Given the description of an element on the screen output the (x, y) to click on. 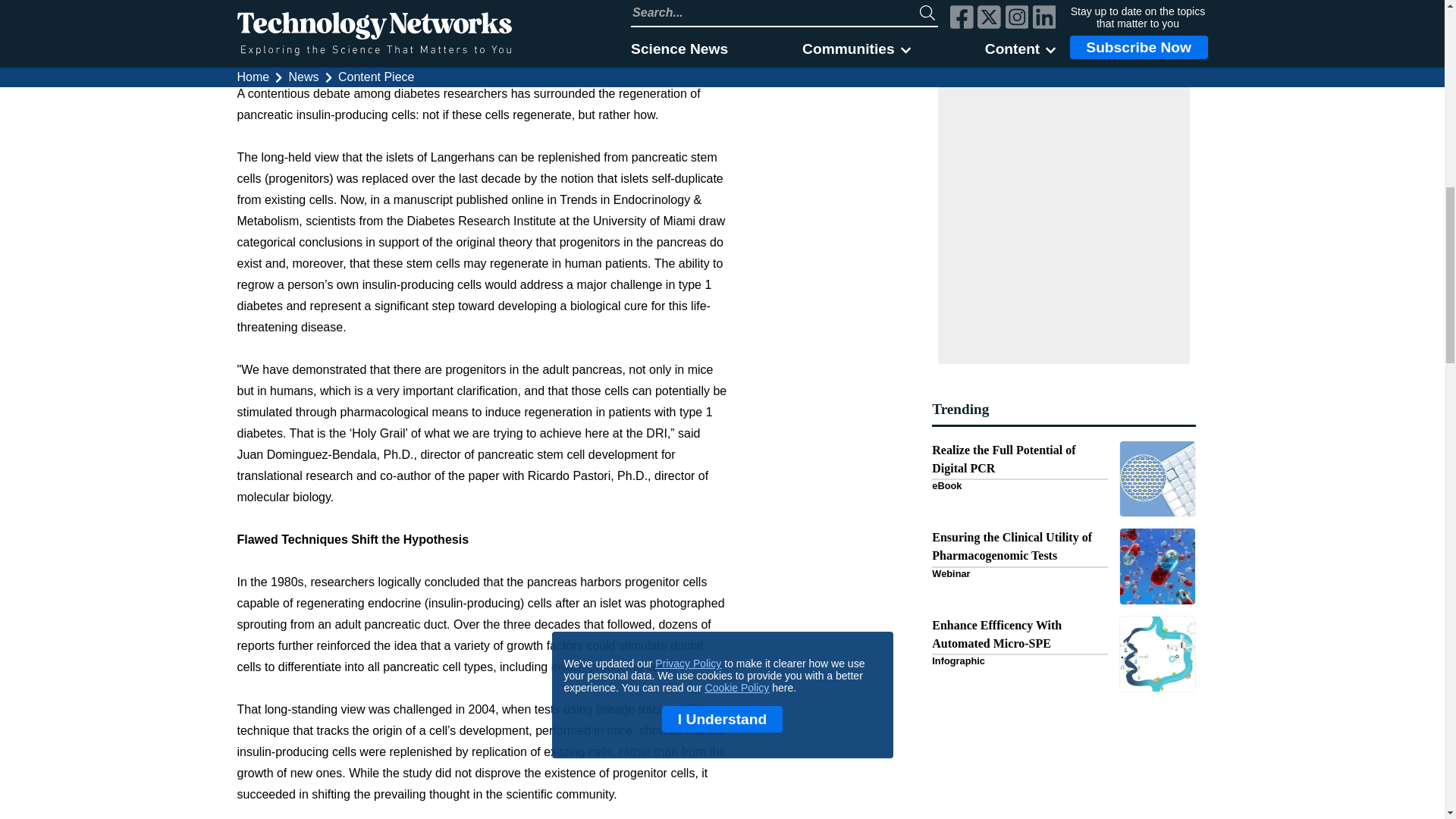
Click to view "Realize the Full Potential of Digital PCR" (1063, 478)
Click to view "Enhance Effficency With Automated Micro-SPE" (1063, 653)
